Given the description of an element on the screen output the (x, y) to click on. 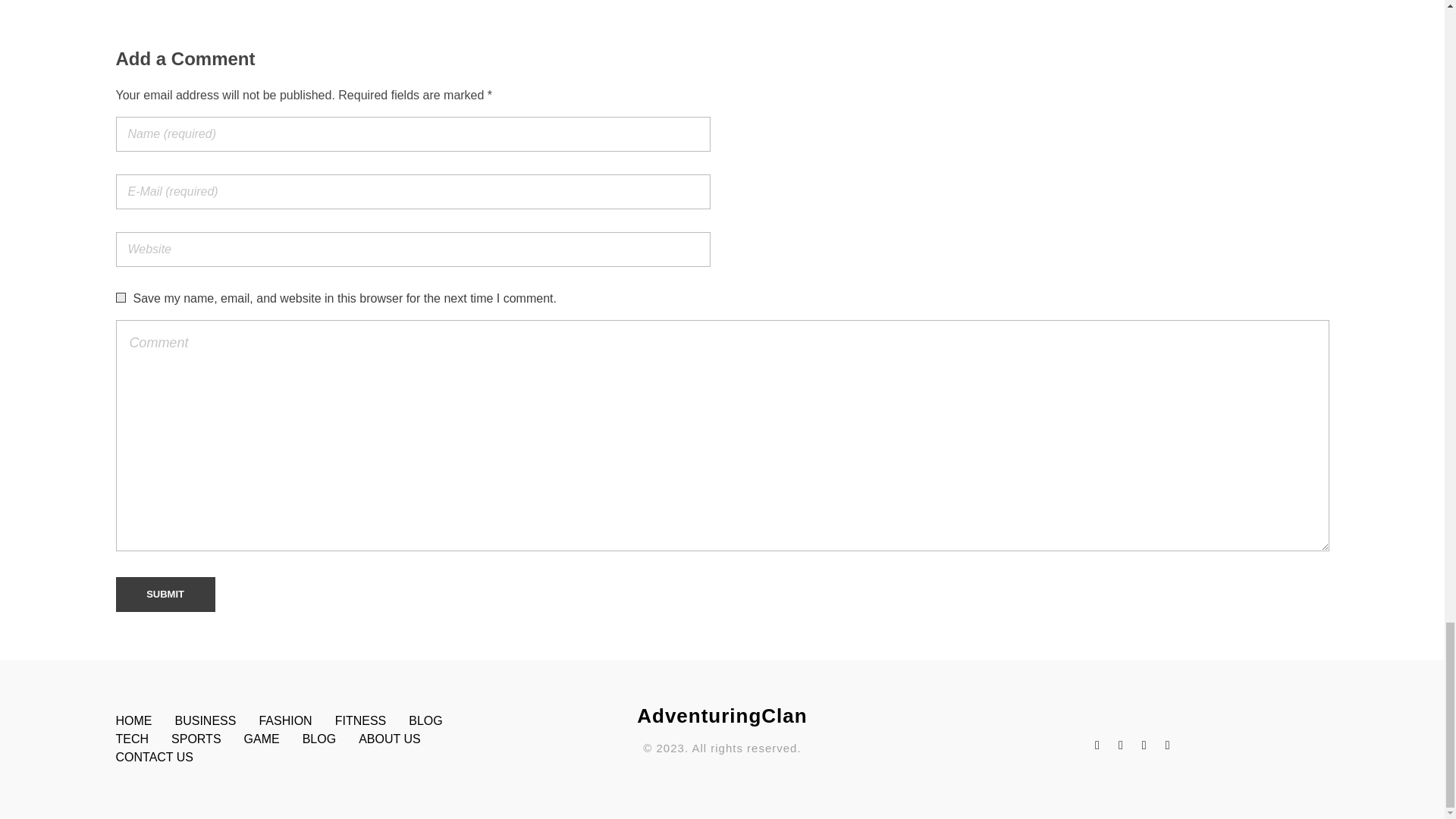
FITNESS (371, 720)
BLOG (436, 720)
SPORTS (207, 739)
BUSINESS (216, 720)
GAME (273, 739)
Submit (164, 594)
TECH (143, 739)
ABOUT US (401, 739)
yes (120, 297)
CONTACT US (165, 757)
